Given the description of an element on the screen output the (x, y) to click on. 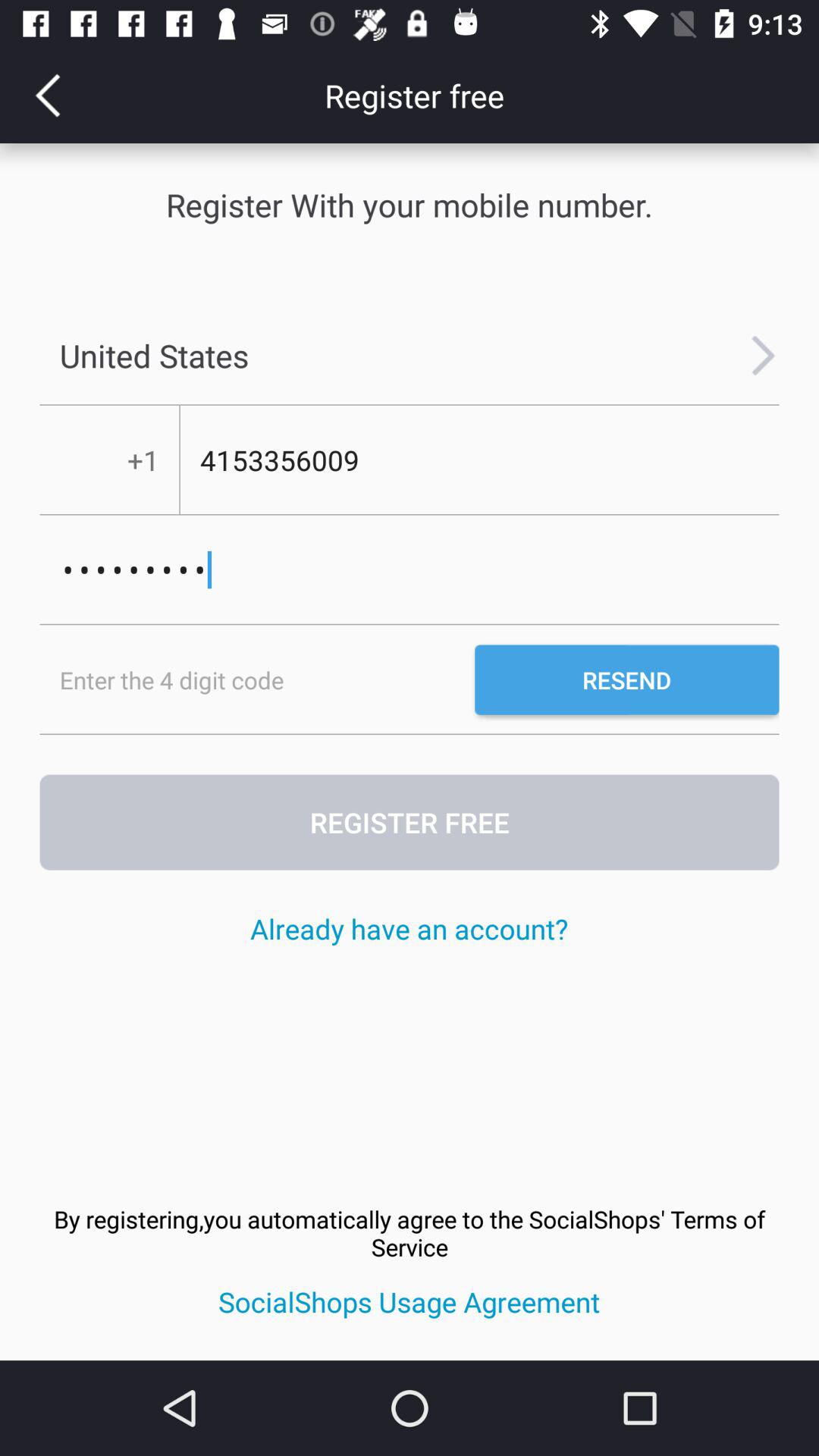
click the item next to the register free item (47, 95)
